Given the description of an element on the screen output the (x, y) to click on. 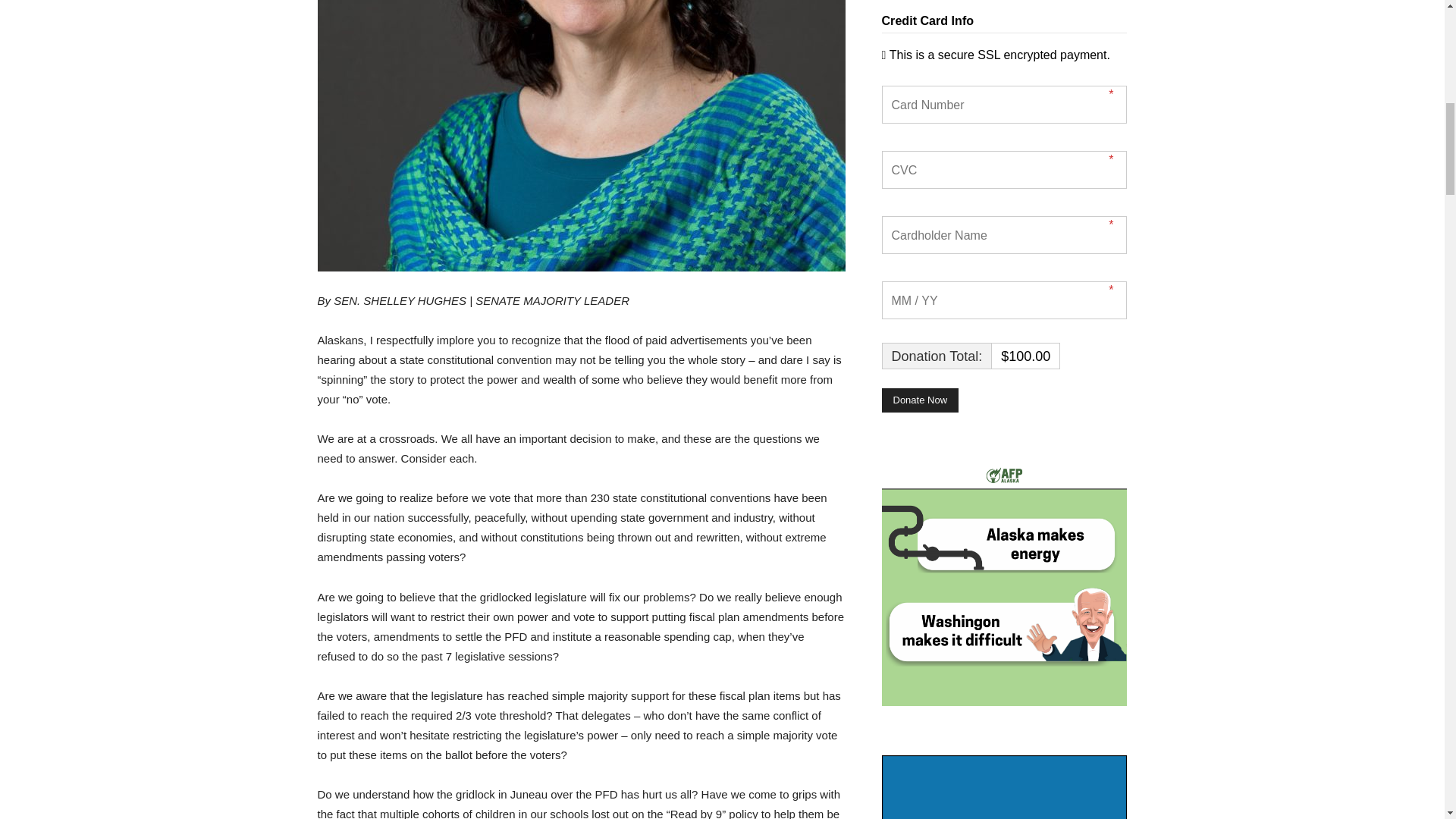
Donate Now (919, 400)
